Given the description of an element on the screen output the (x, y) to click on. 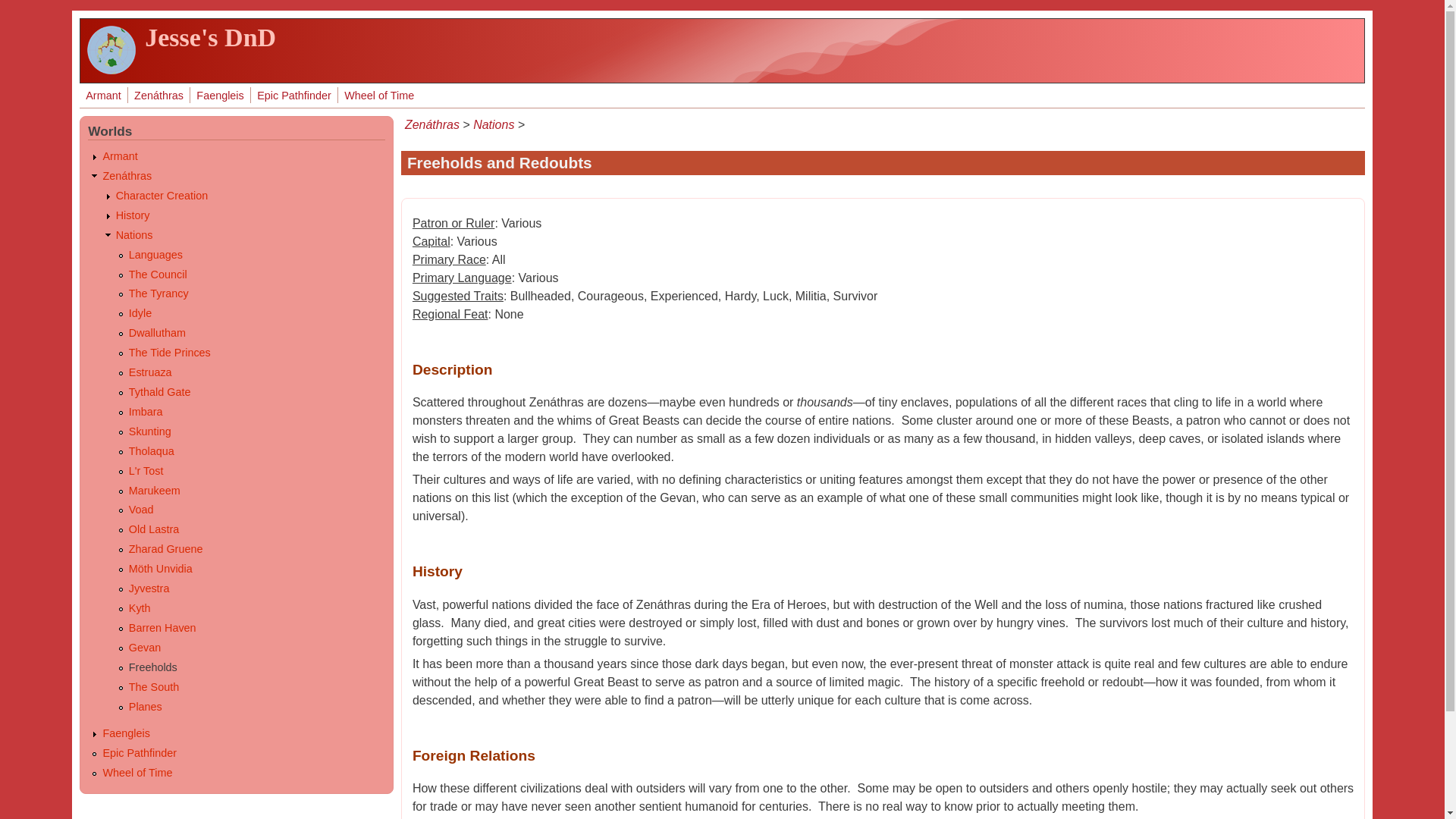
The Council of Wyrms (158, 274)
Marukeem (154, 490)
The Council (158, 274)
Jyvestra (149, 588)
Armant (102, 95)
Languages (156, 254)
Epic Pathfinder (293, 95)
Tythald Gate (159, 391)
Tholaqua (151, 451)
